Given the description of an element on the screen output the (x, y) to click on. 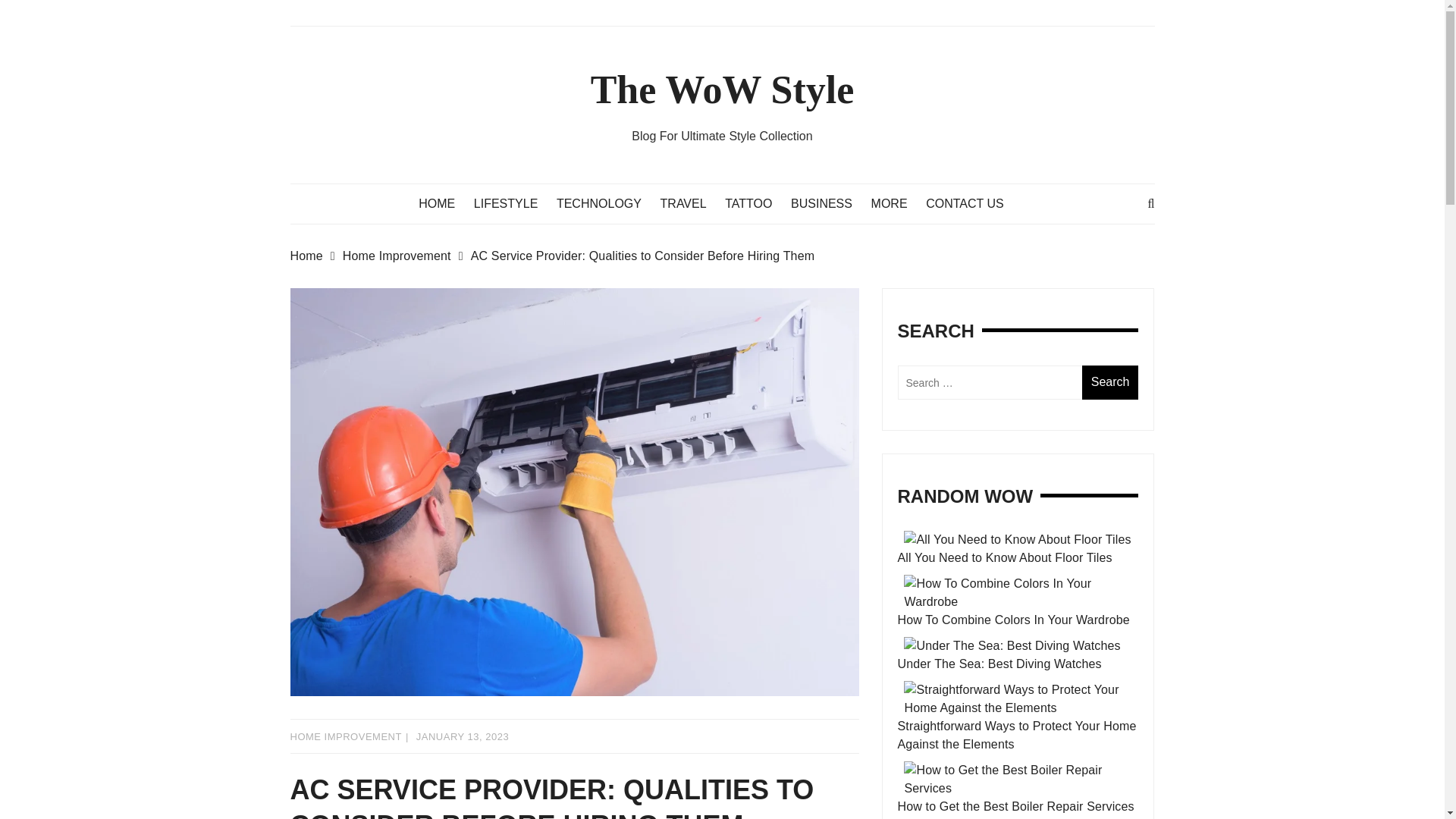
Search (1109, 382)
LIFESTYLE (513, 203)
Home Improvement (406, 256)
BUSINESS (828, 203)
Home (315, 256)
TATTOO (756, 203)
TRAVEL (691, 203)
CONTACT US (972, 203)
Search (1109, 382)
MORE (896, 203)
The WoW Style (722, 89)
HOME (444, 203)
TECHNOLOGY (606, 203)
